Given the description of an element on the screen output the (x, y) to click on. 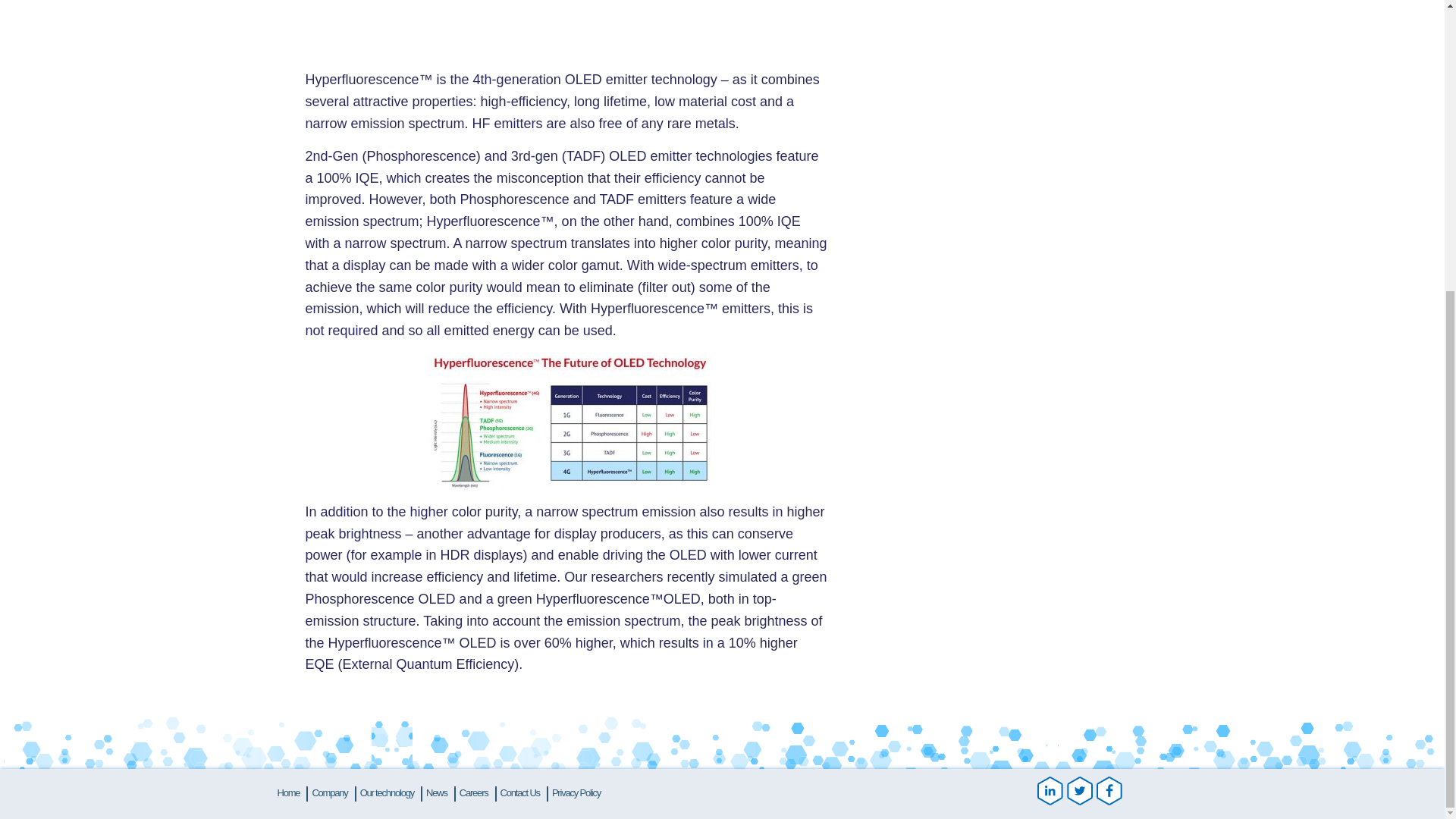
YouTube video player (566, 31)
